Given the description of an element on the screen output the (x, y) to click on. 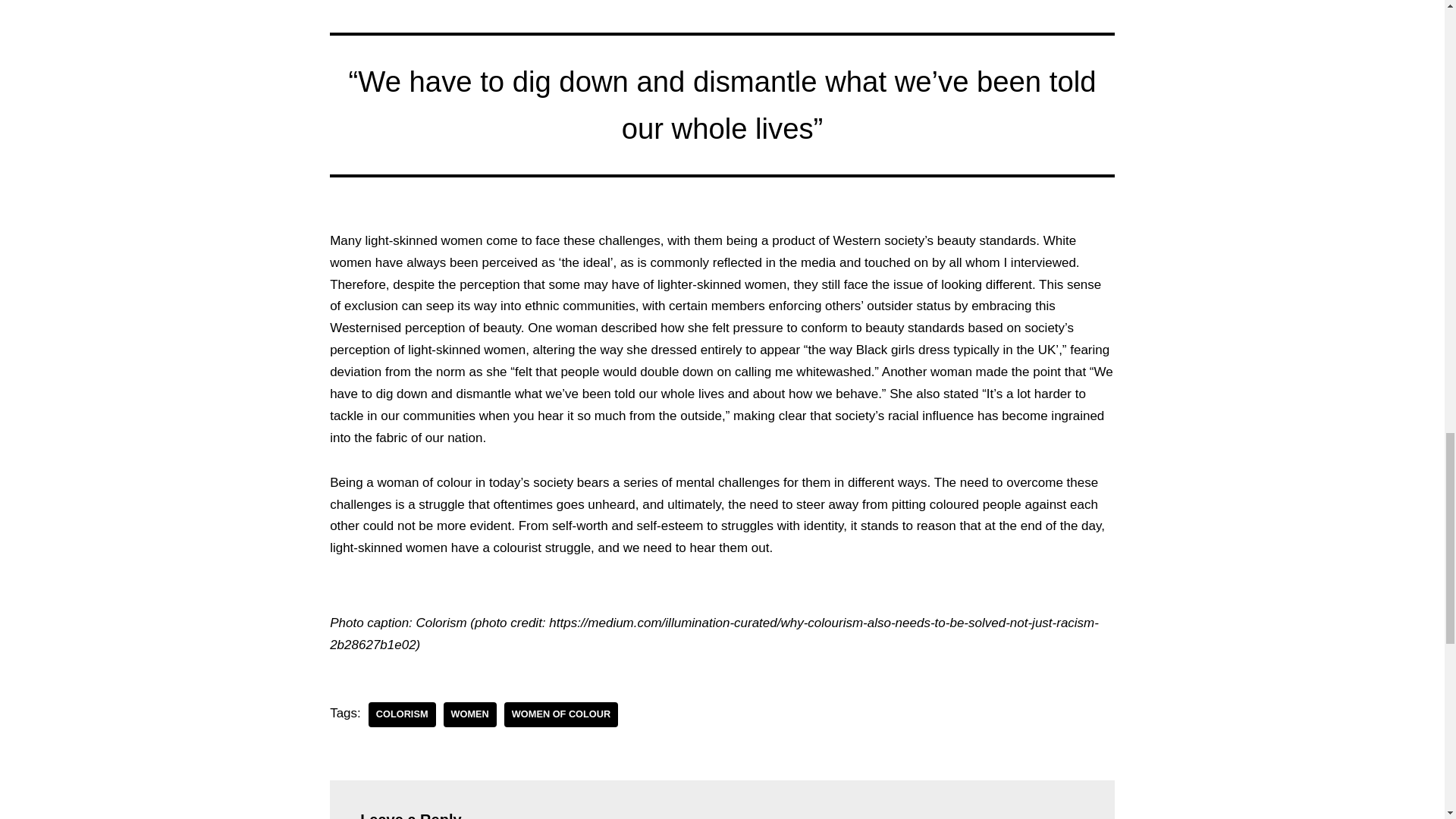
WOMEN (470, 714)
women (470, 714)
WOMEN OF COLOUR (560, 714)
women of colour (560, 714)
colorism (401, 714)
COLORISM (401, 714)
